Given the description of an element on the screen output the (x, y) to click on. 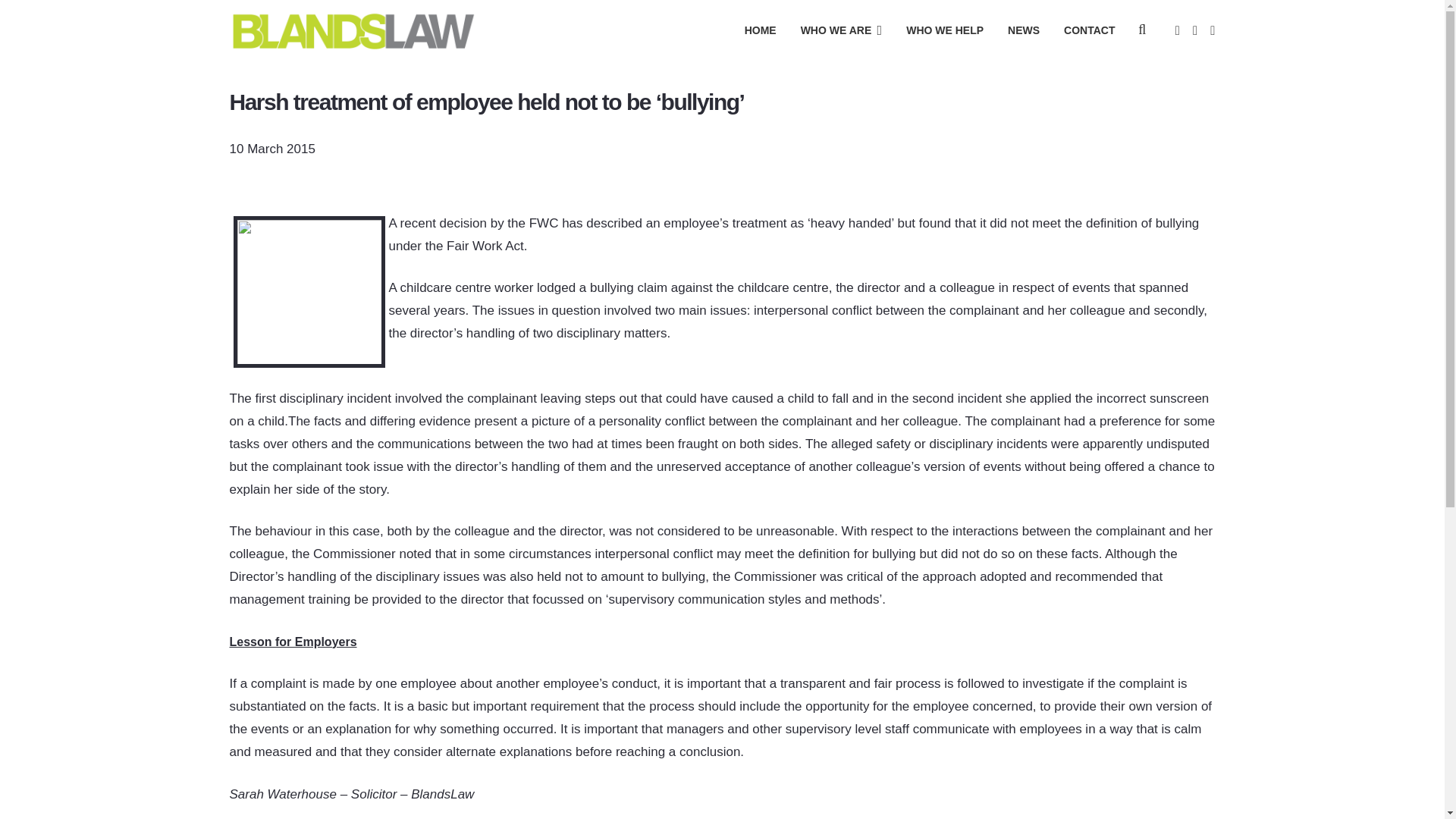
WHO WE HELP (944, 30)
WHO WE ARE (842, 30)
CONTACT (1088, 30)
NEWS (1023, 30)
HOME (760, 30)
